Given the description of an element on the screen output the (x, y) to click on. 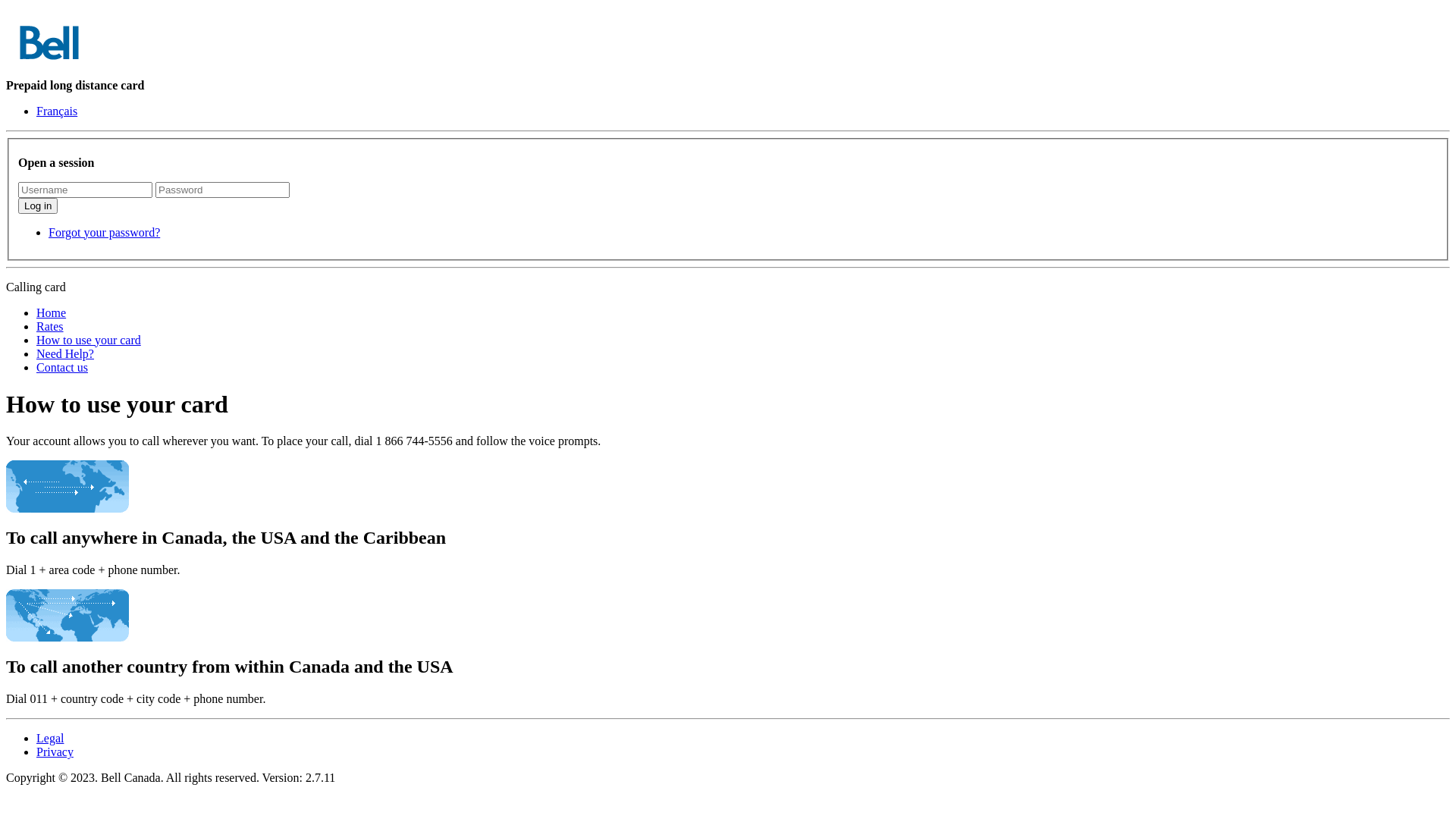
Log in Element type: hover (37, 205)
Log in Element type: text (37, 205)
Legal Element type: text (49, 737)
Home Element type: text (50, 312)
Privacy Element type: text (54, 751)
How to use your card Element type: text (88, 339)
Need Help? Element type: text (65, 353)
Forgot your password? Element type: text (104, 231)
Contact us Element type: text (61, 366)
Rates Element type: text (49, 326)
